Given the description of an element on the screen output the (x, y) to click on. 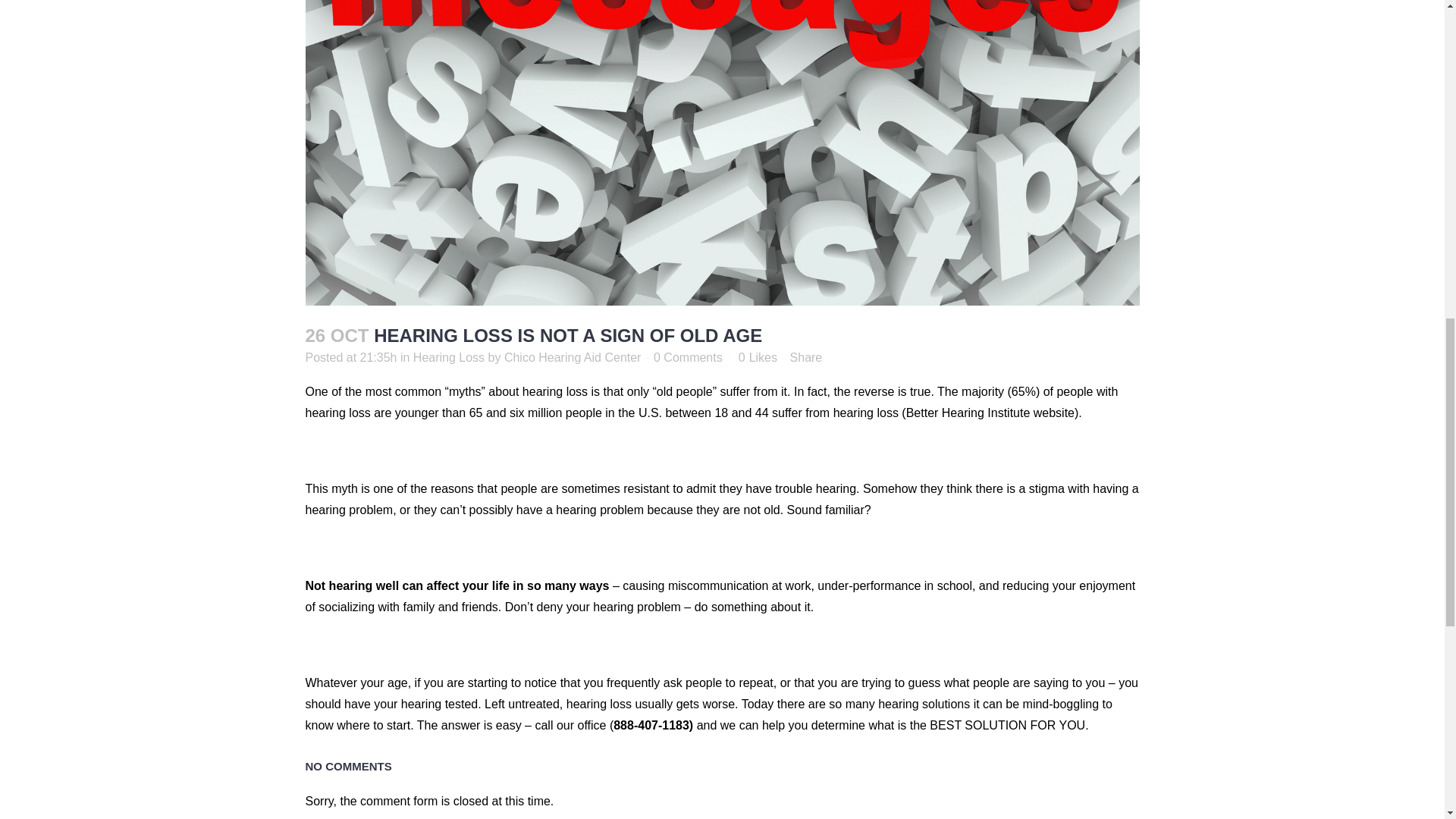
0 Likes (757, 357)
Like this (757, 357)
Chico Hearing Aid Center (572, 357)
Hearing Loss (448, 357)
0 Comments (687, 357)
Share (806, 357)
